Given the description of an element on the screen output the (x, y) to click on. 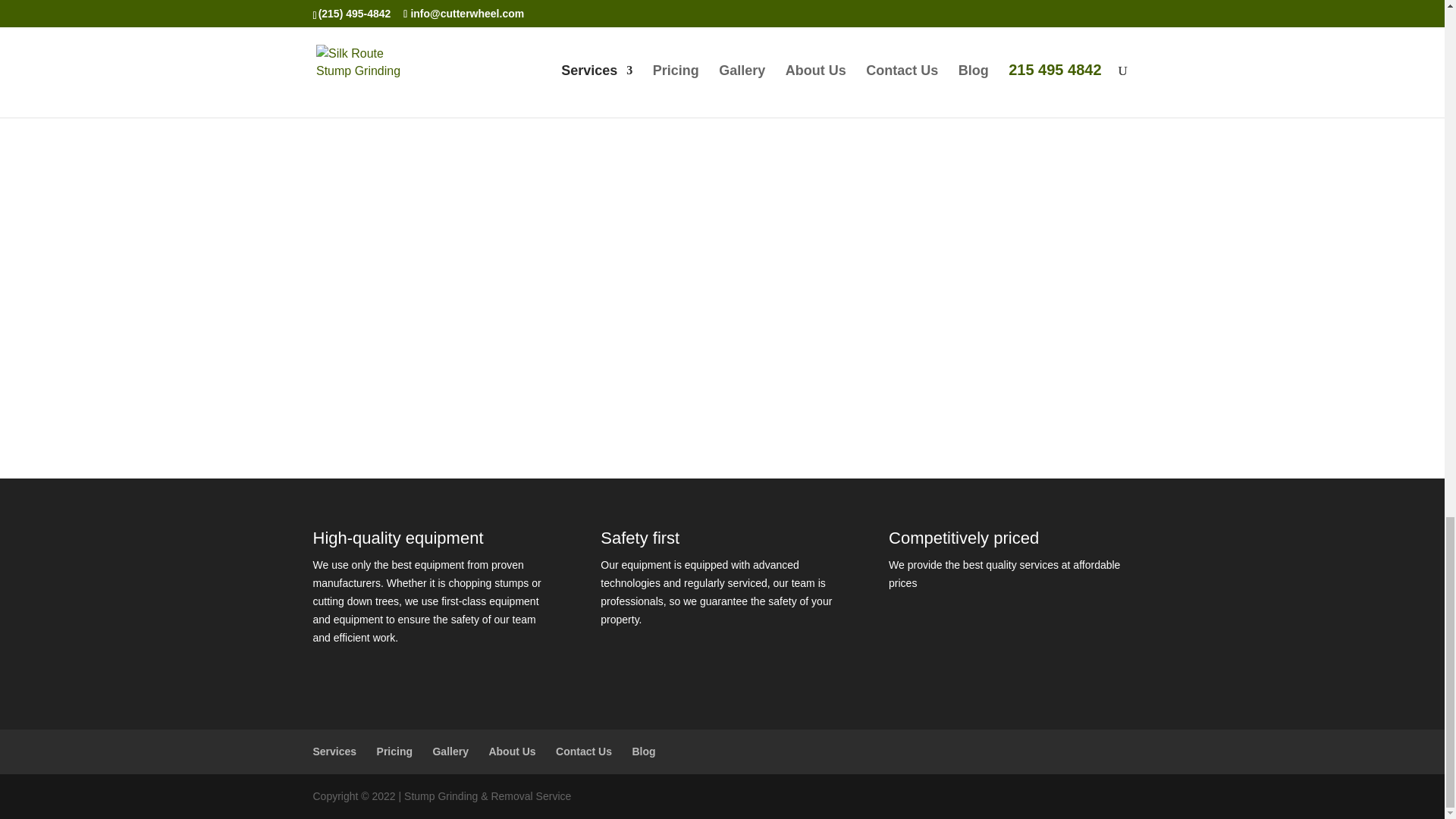
Blog (643, 751)
About Us (511, 751)
Contact Us (583, 751)
Pricing (394, 751)
Services (334, 751)
Gallery (449, 751)
